Given the description of an element on the screen output the (x, y) to click on. 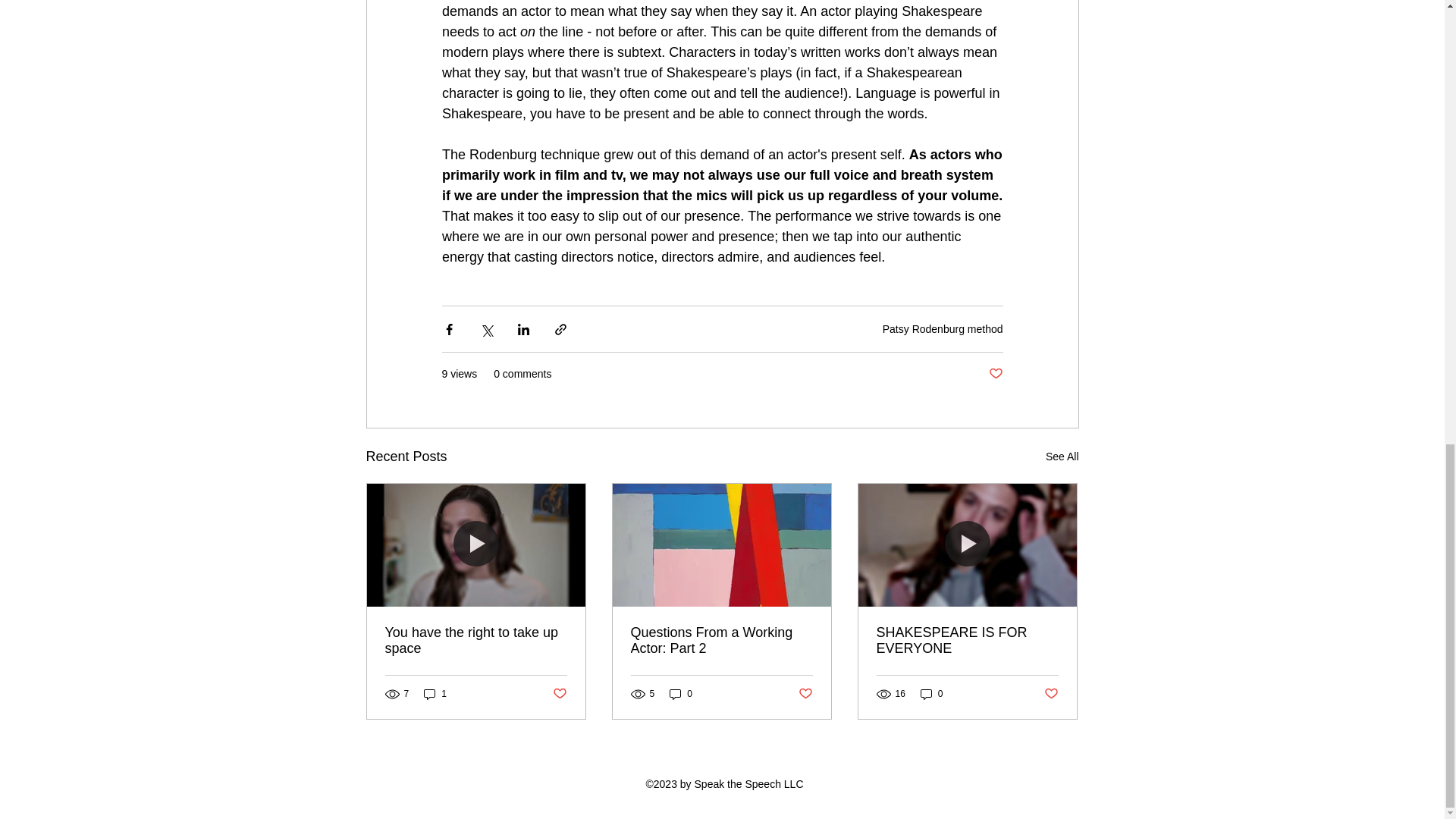
Post not marked as liked (804, 693)
Post not marked as liked (1050, 693)
Post not marked as liked (995, 374)
You have the right to take up space (476, 640)
SHAKESPEARE IS FOR EVERYONE (967, 640)
1 (435, 693)
Post not marked as liked (558, 693)
Questions From a Working Actor: Part 2 (721, 640)
Patsy Rodenburg method (942, 328)
See All (1061, 456)
